Given the description of an element on the screen output the (x, y) to click on. 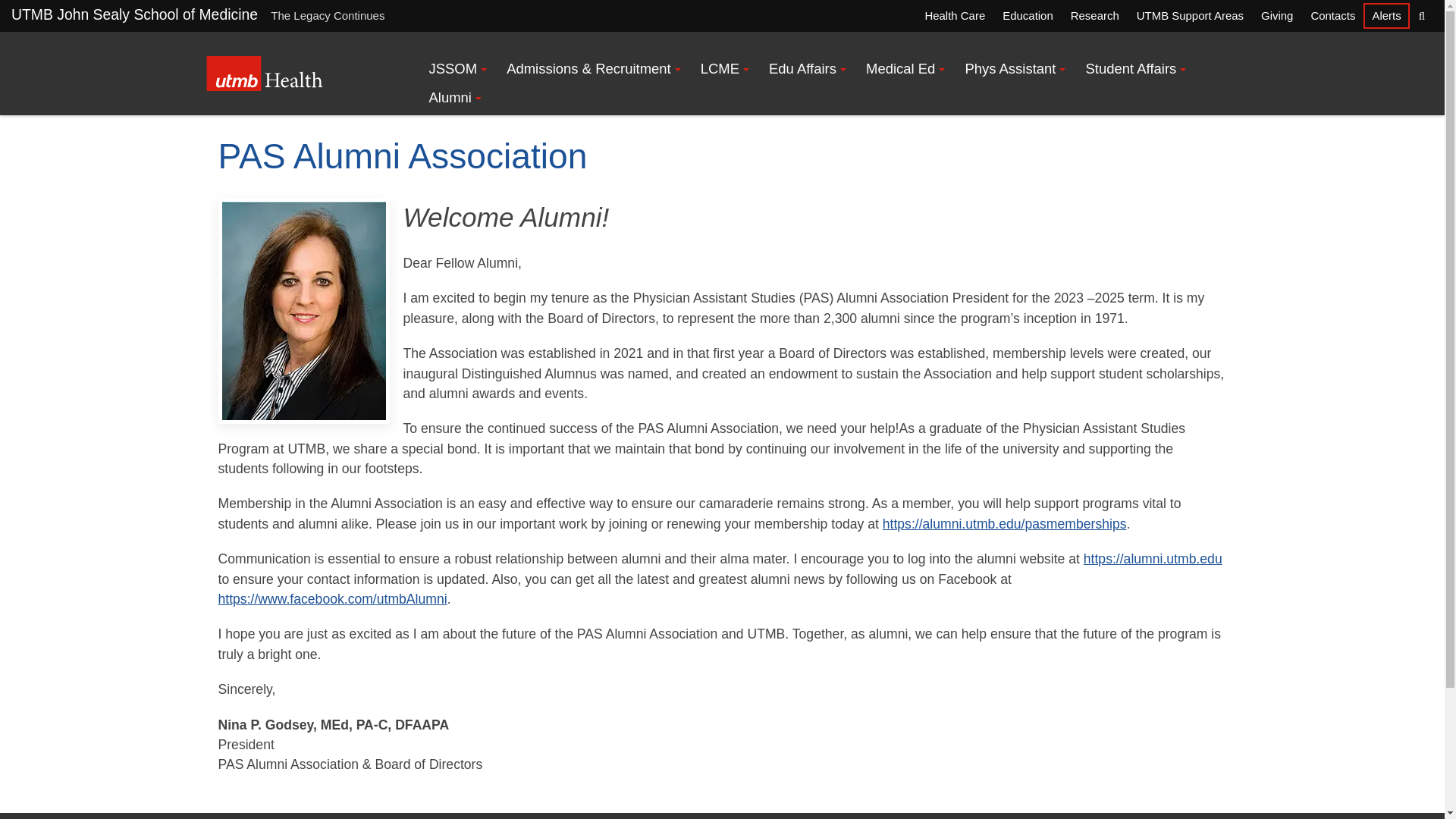
Giving (1276, 15)
Contacts (1331, 15)
Education (1026, 15)
Health Care (953, 15)
UTMB John Sealy School of Medicine (134, 14)
Research (1093, 15)
UTMB Health (265, 73)
Search (1420, 15)
The University of Texas Medical Branch (265, 73)
UTMB Support Areas (1189, 15)
